Given the description of an element on the screen output the (x, y) to click on. 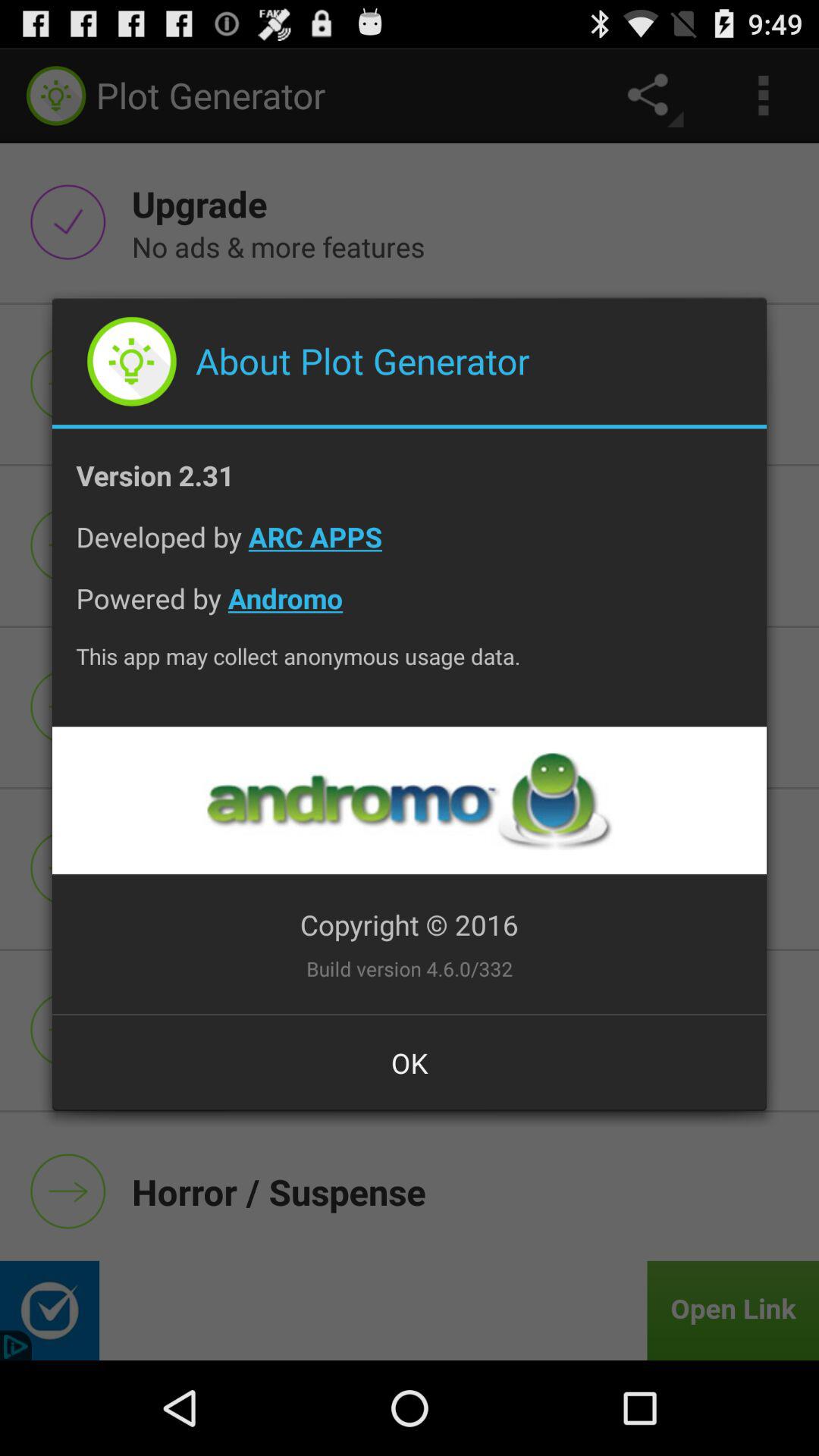
press the developed by arc (409, 548)
